Given the description of an element on the screen output the (x, y) to click on. 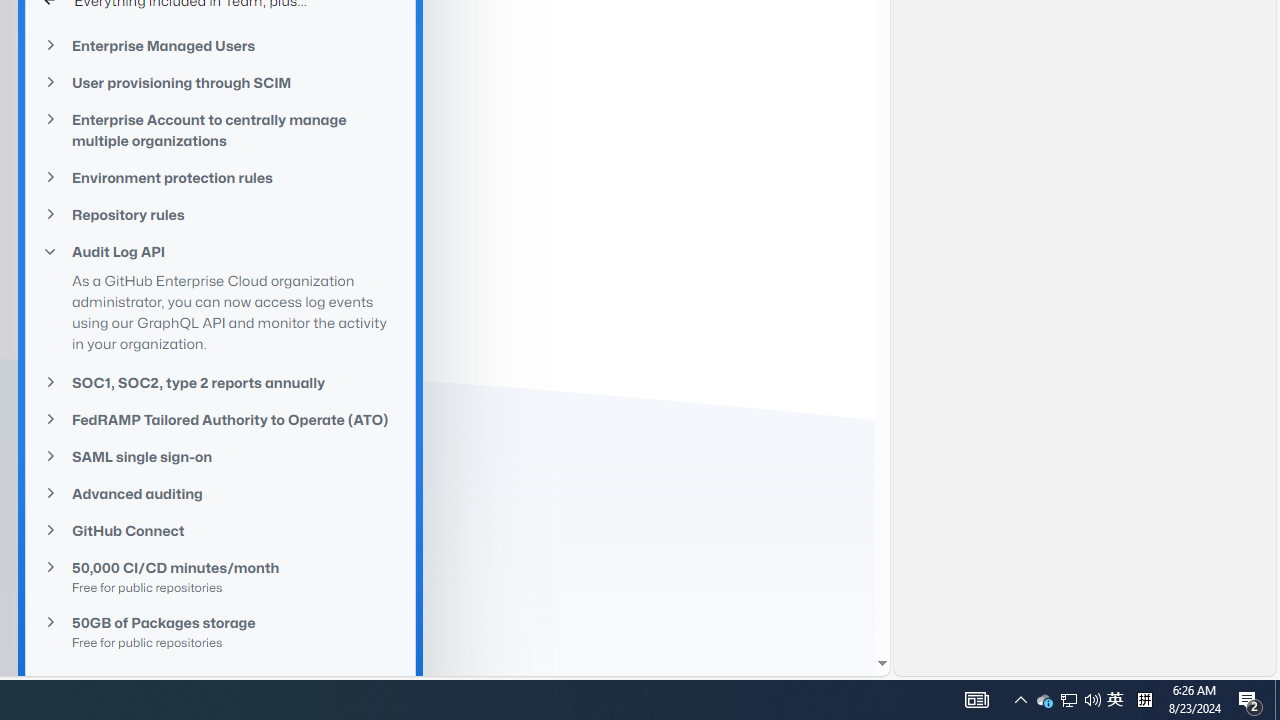
FedRAMP Tailored Authority to Operate (ATO) (220, 419)
SAML single sign-on (220, 456)
Environment protection rules (220, 177)
Audit Log API (220, 251)
GitHub Connect (220, 530)
FedRAMP Tailored Authority to Operate (ATO) (220, 420)
Repository rules (220, 214)
Enterprise Managed Users (220, 44)
50,000 CI/CD minutes/monthFree for public repositories (220, 575)
Advanced auditing (220, 493)
SAML single sign-on (220, 456)
Repository rules (220, 214)
User provisioning through SCIM (220, 82)
